Given the description of an element on the screen output the (x, y) to click on. 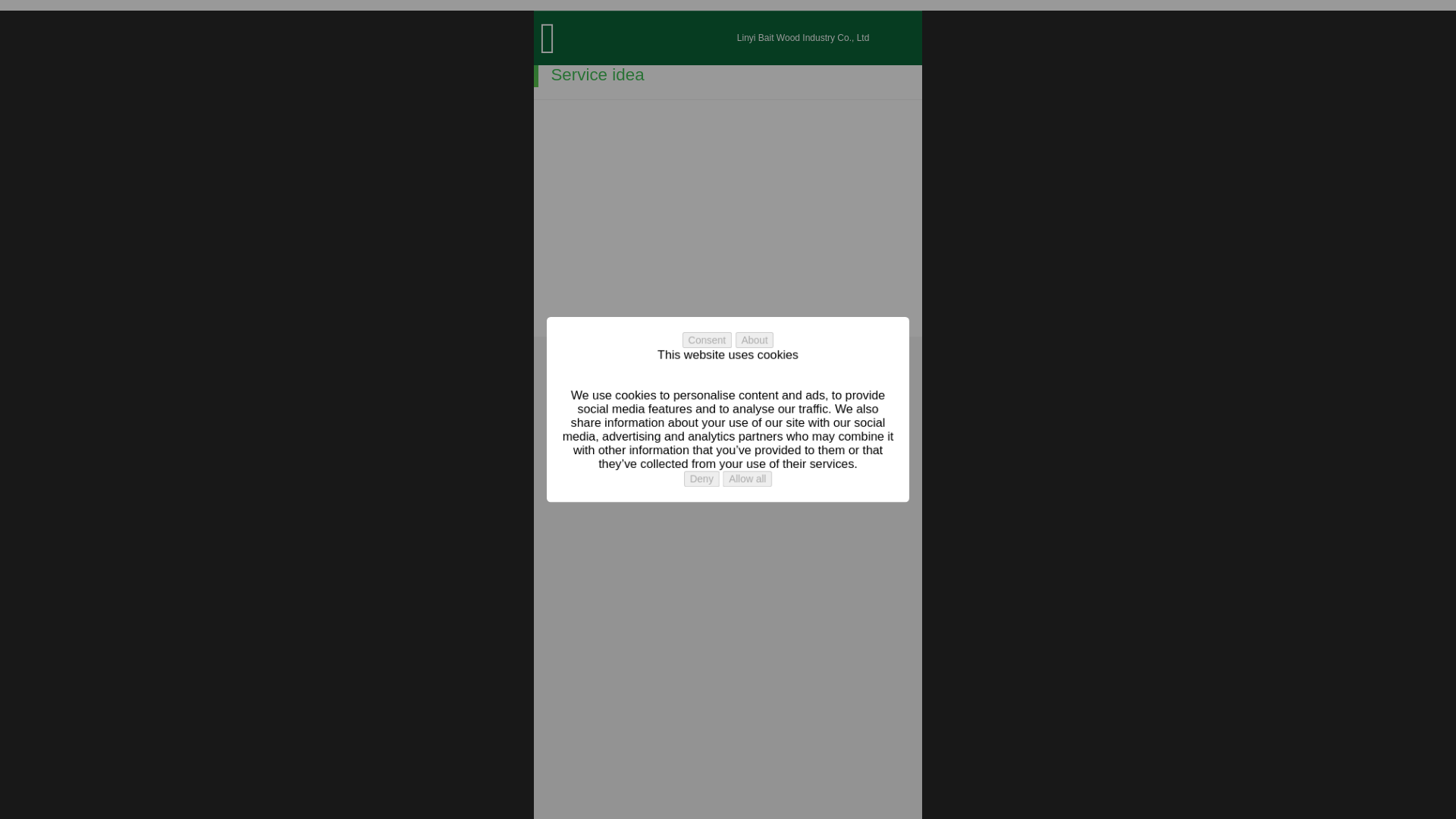
About (754, 337)
Allow all (746, 477)
Linyi Bait Wood Industry Co., Ltd (802, 37)
Deny (699, 481)
Consent (713, 344)
